Given the description of an element on the screen output the (x, y) to click on. 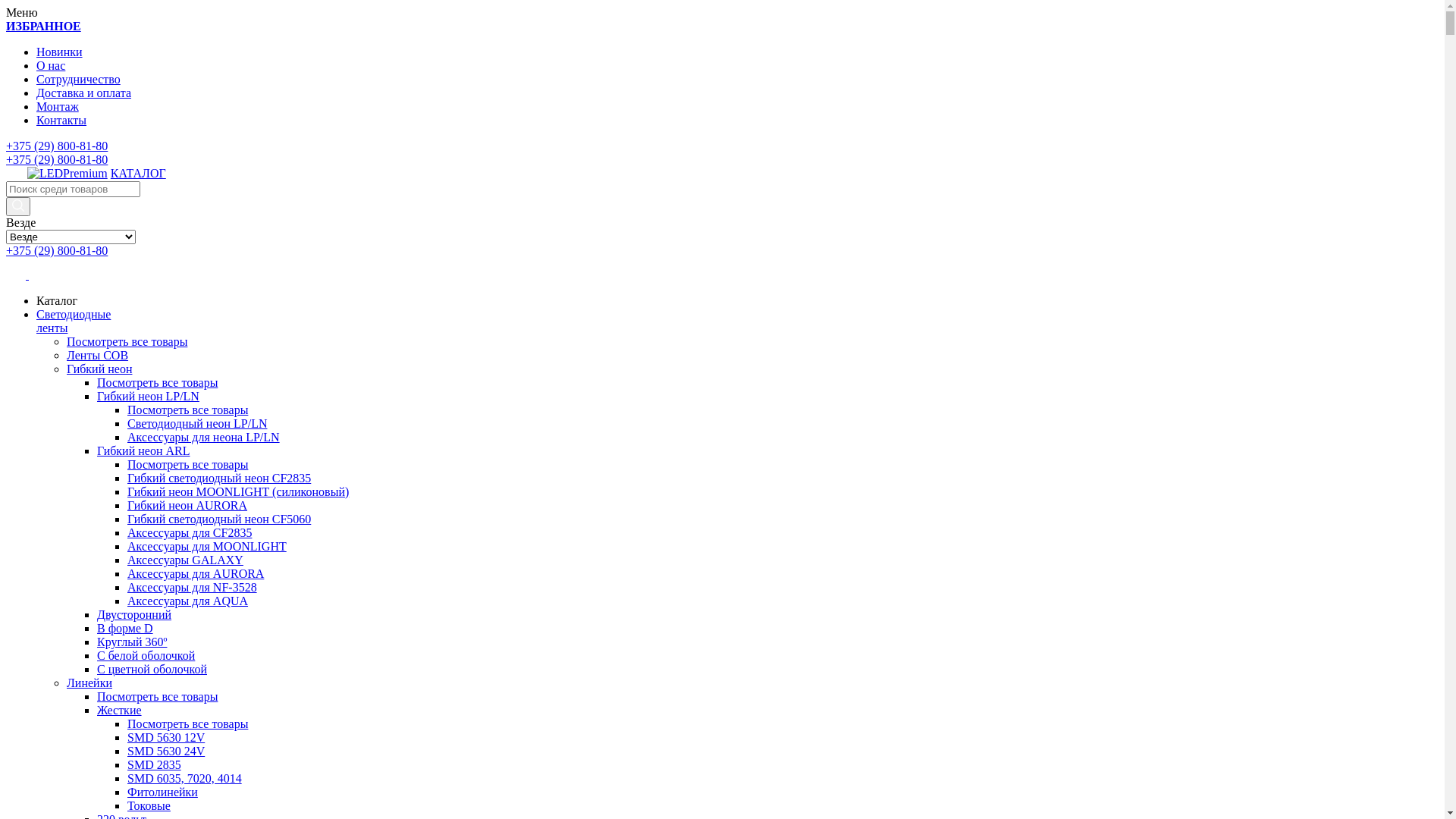
SMD 5630 24V Element type: text (165, 750)
SMD 2835 Element type: text (154, 764)
SMD 5630 12V Element type: text (165, 737)
+375 (29) 800-81-80 Element type: text (56, 145)
+375 (29) 800-81-80 Element type: text (56, 159)
SMD 6035, 7020, 4014 Element type: text (184, 777)
+375 (29) 800-81-80 Element type: text (56, 250)
